Given the description of an element on the screen output the (x, y) to click on. 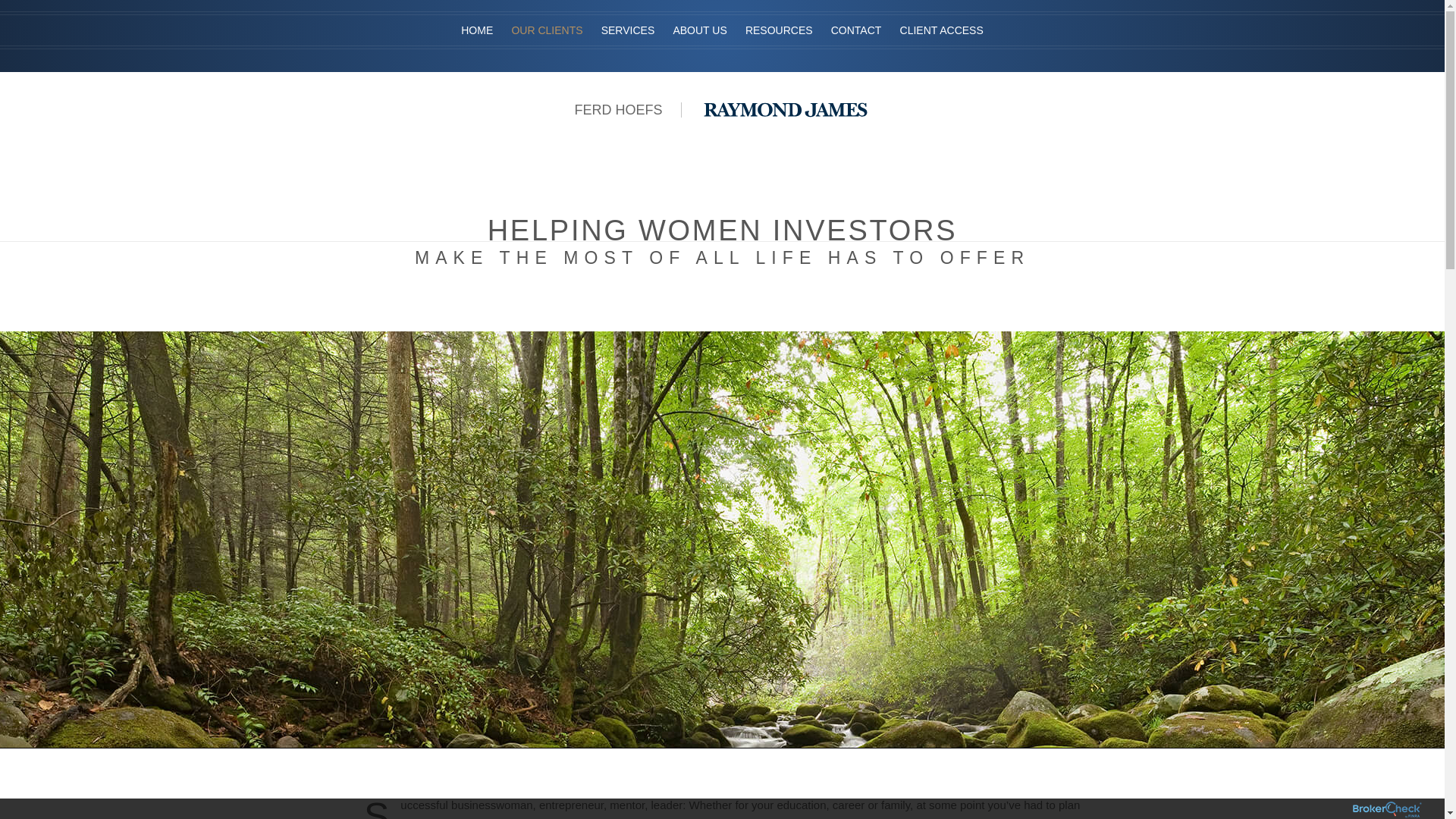
HOME (476, 14)
SERVICES (628, 20)
OUR CLIENTS (546, 14)
ABOUT US (699, 30)
RESOURCES (779, 30)
